Given the description of an element on the screen output the (x, y) to click on. 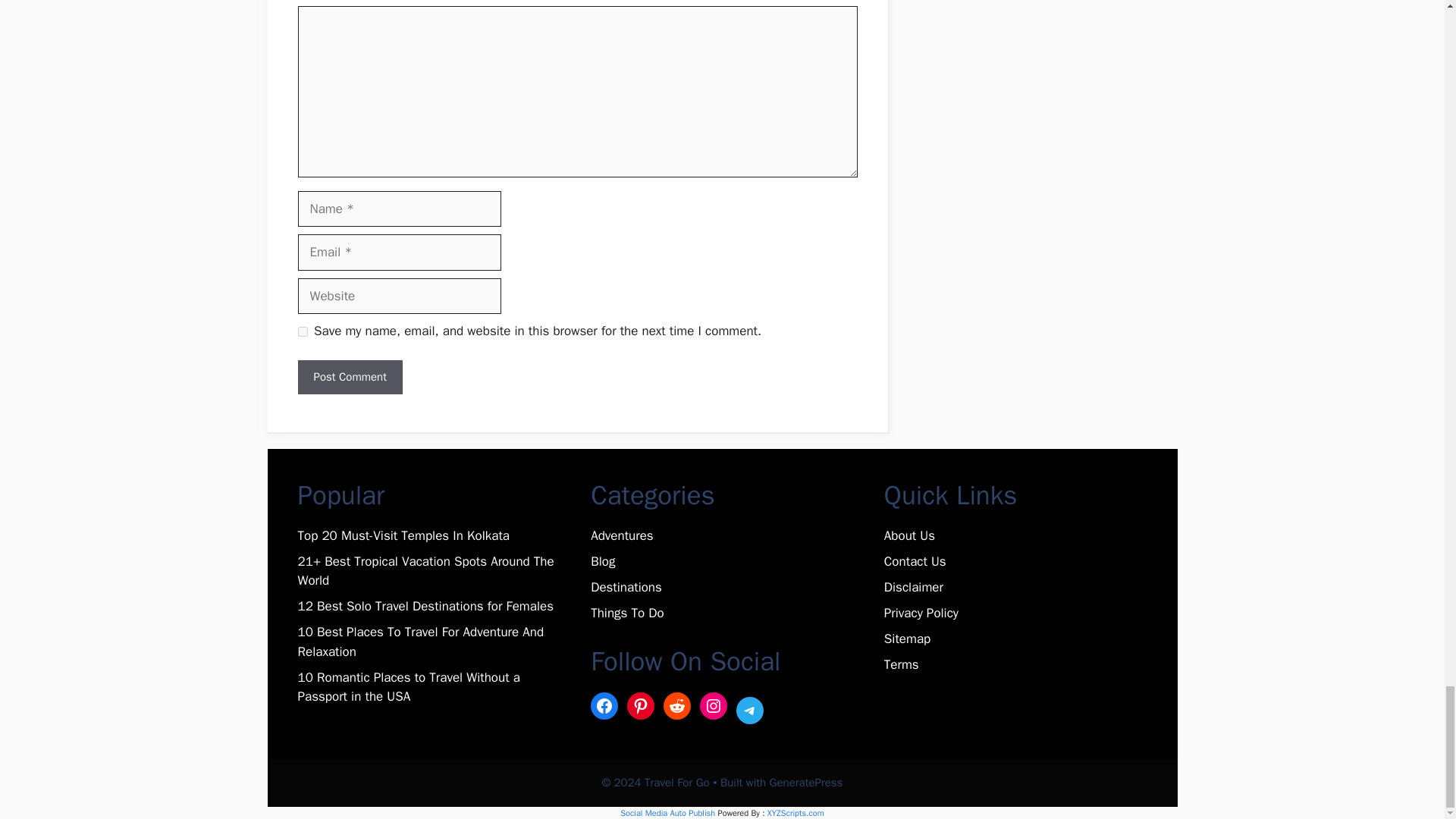
Social Media Auto Publish (667, 812)
yes (302, 331)
Post Comment (349, 376)
